Given the description of an element on the screen output the (x, y) to click on. 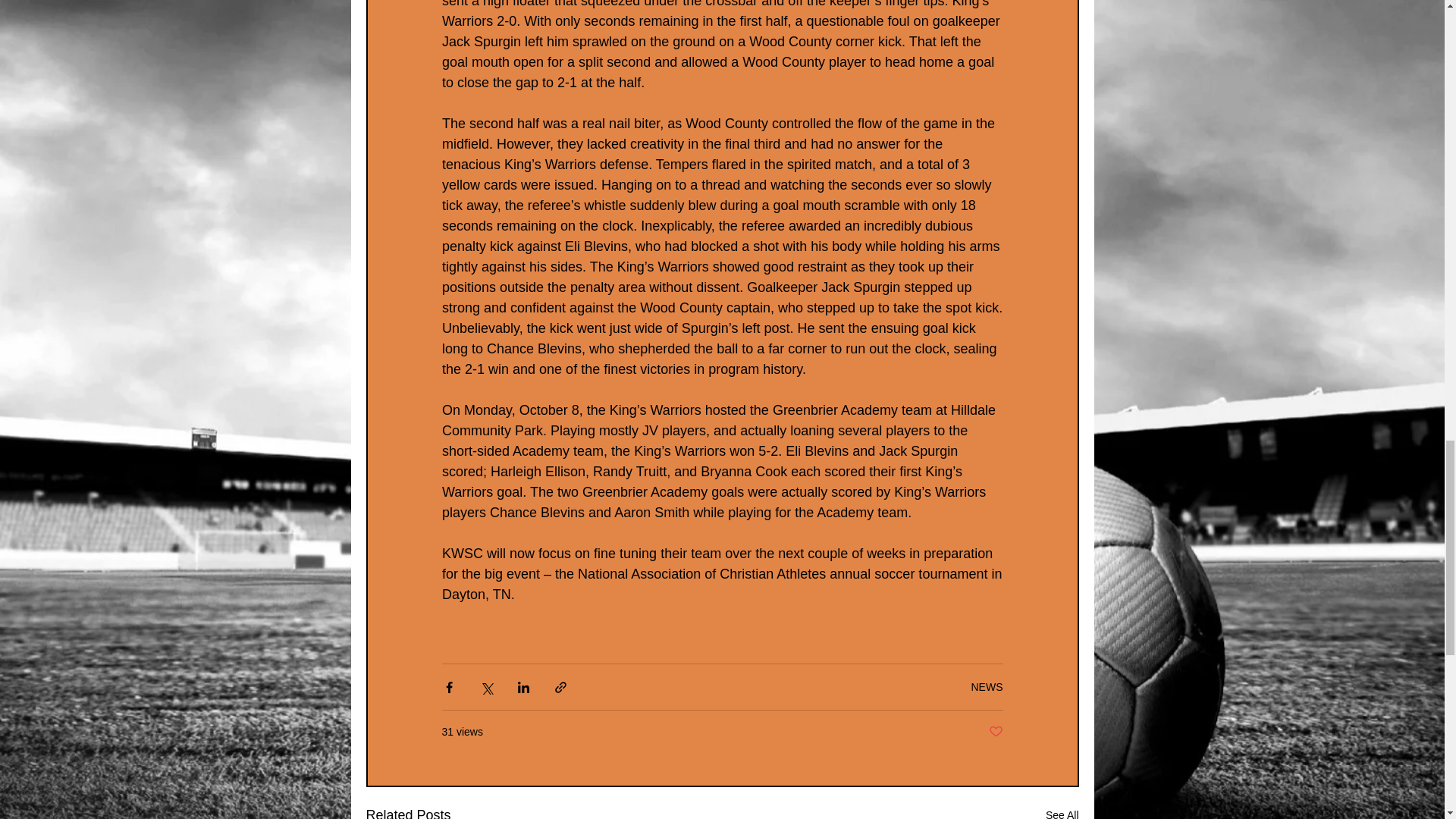
See All (1061, 811)
Post not marked as liked (995, 731)
NEWS (987, 686)
